Given the description of an element on the screen output the (x, y) to click on. 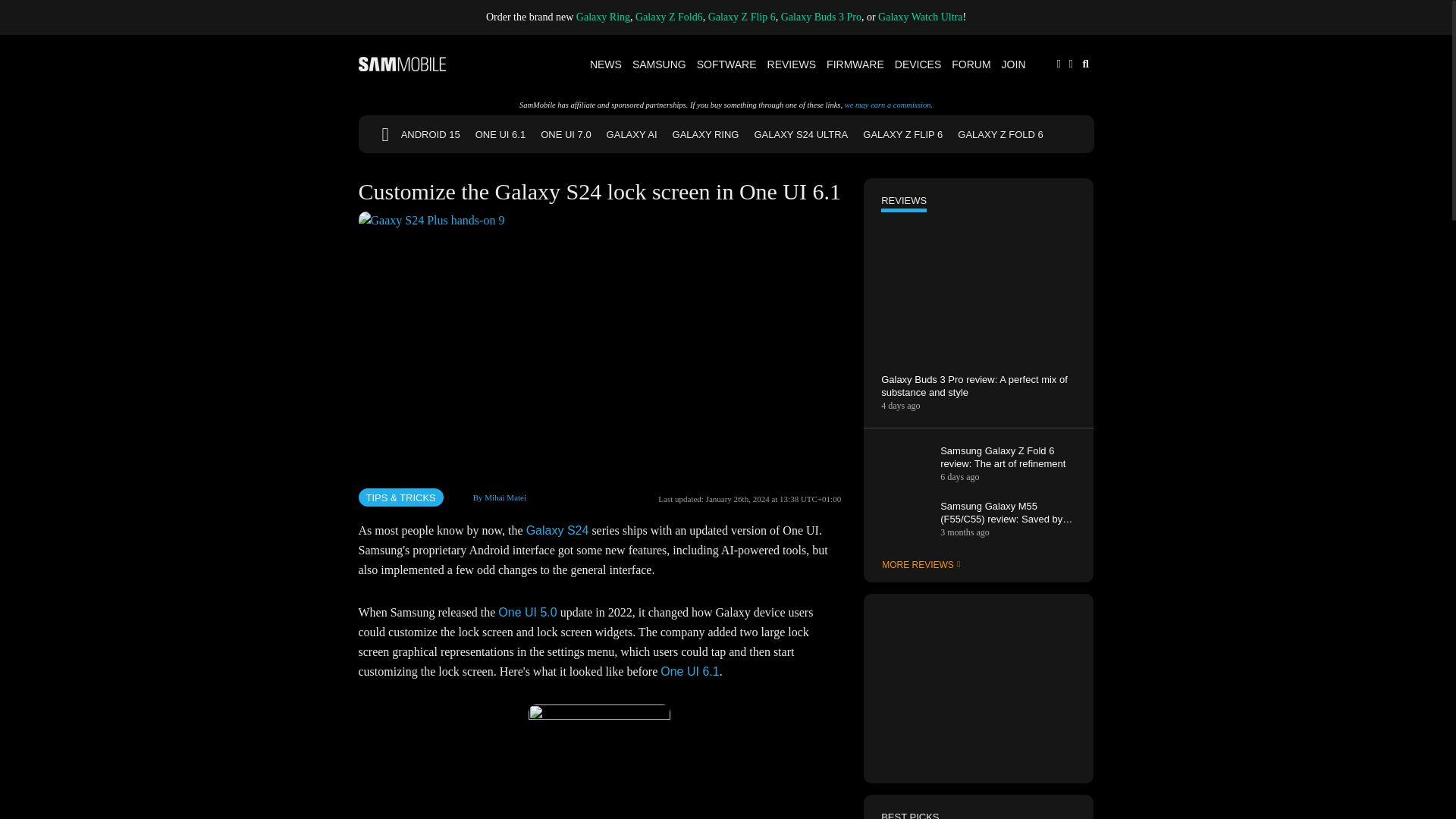
Galaxy Watch Ultra (919, 16)
Galaxy Z Fold6 (668, 16)
Galaxy Ring (603, 16)
Samsung (659, 64)
SamMobile logo (401, 63)
SAMSUNG (659, 64)
Galaxy Z Flip 6 (741, 16)
Galaxy Buds 3 Pro (820, 16)
